Given the description of an element on the screen output the (x, y) to click on. 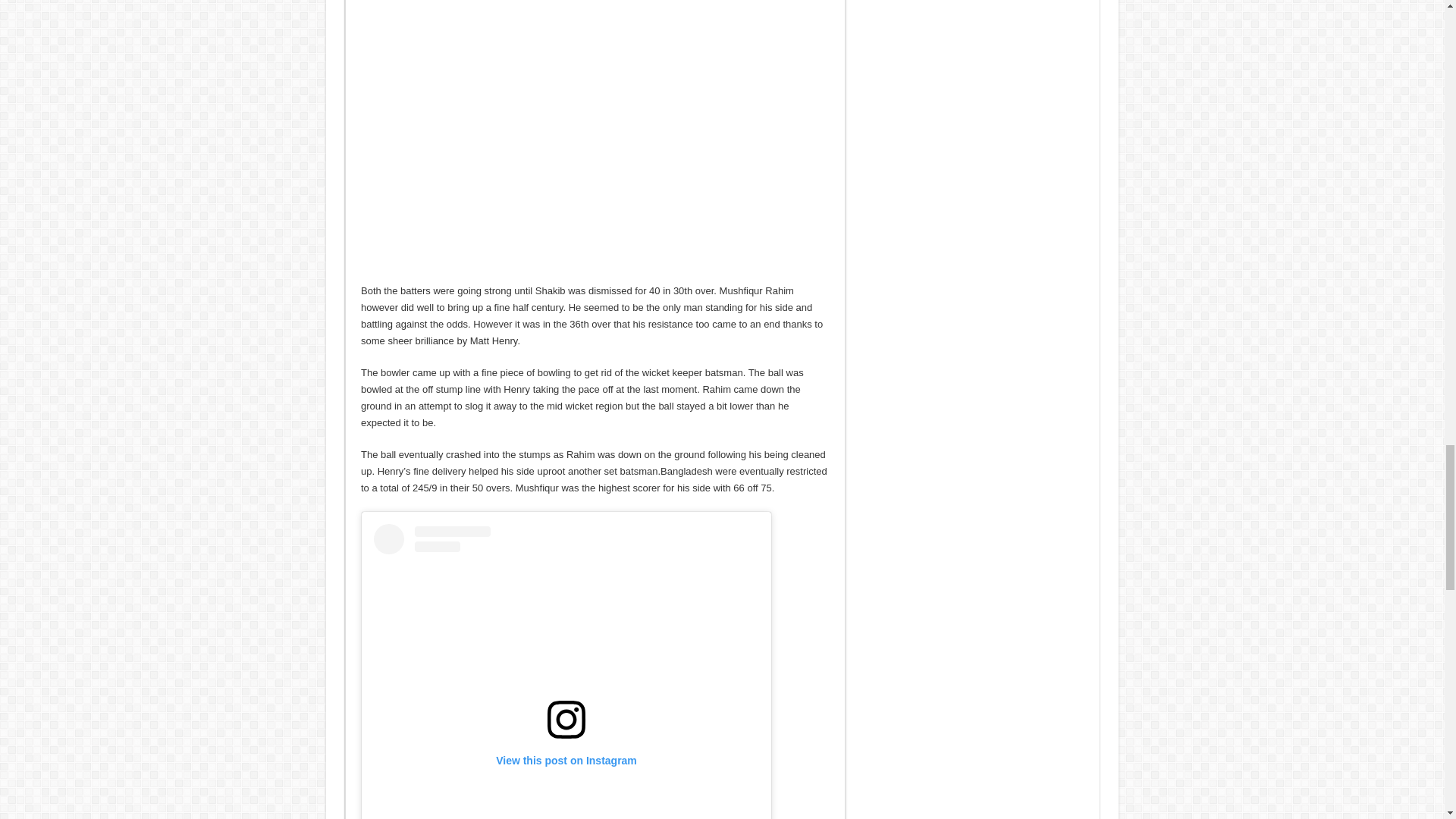
View this post on Instagram (566, 671)
